Given the description of an element on the screen output the (x, y) to click on. 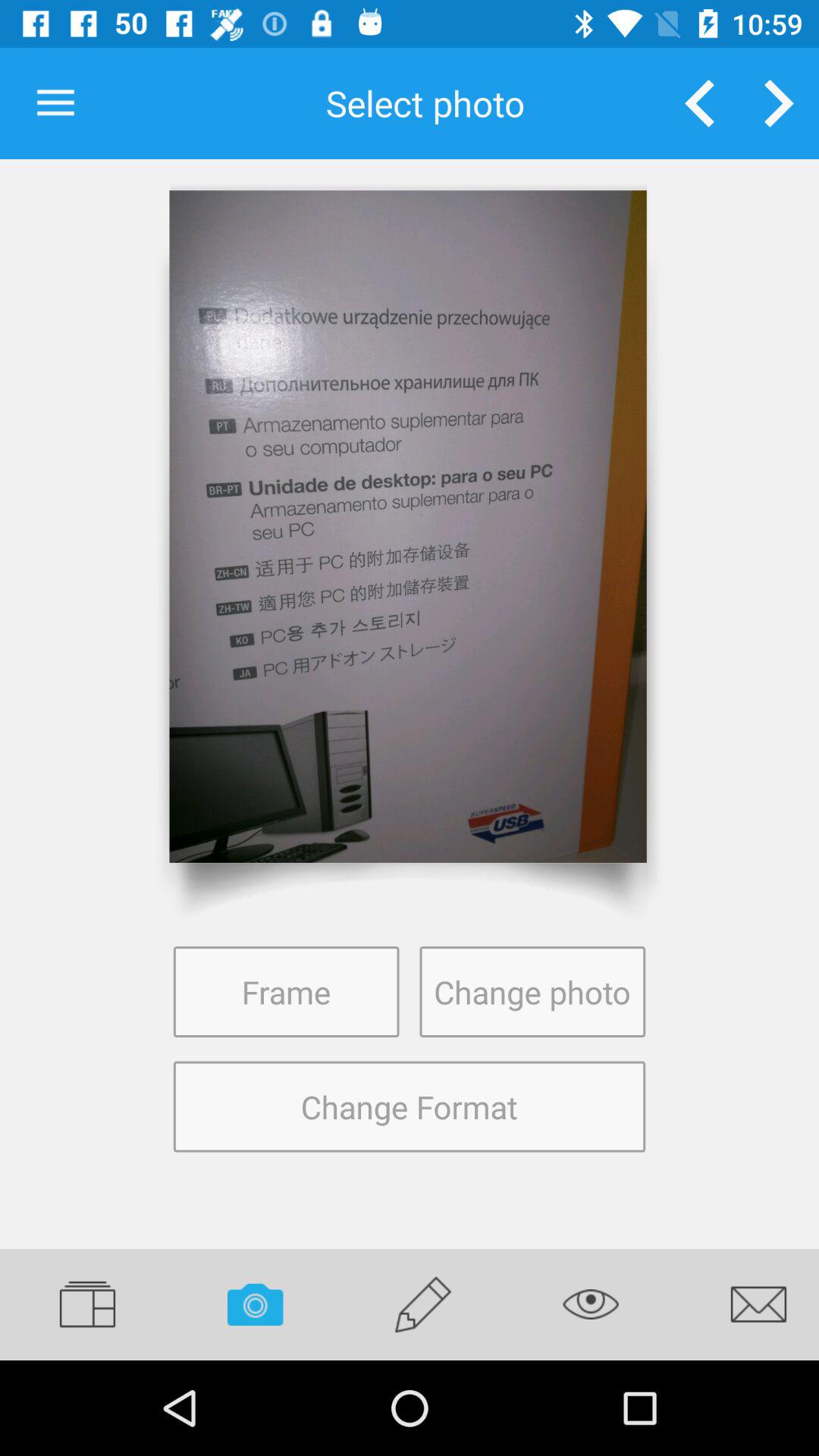
open the item below the change format (423, 1304)
